Given the description of an element on the screen output the (x, y) to click on. 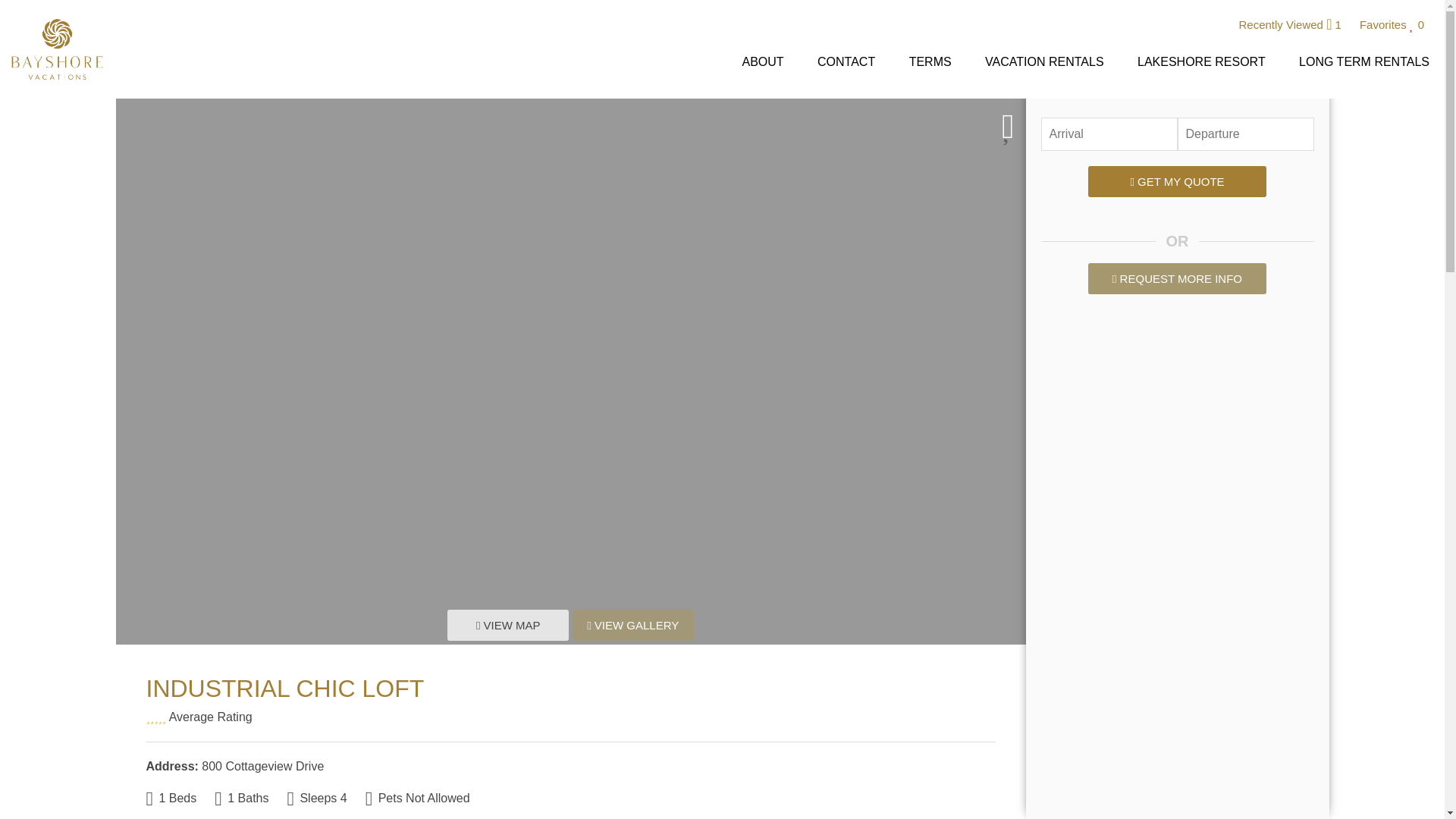
Favorites 0 (1391, 24)
CONTACT (845, 65)
VACATION RENTALS (1043, 65)
TERMS (929, 65)
ABOUT (761, 65)
Recently Viewed 1 (1290, 24)
Your Favorited Properties (1391, 23)
Properties you have Recently Viewed (1289, 23)
LAKESHORE RESORT (1201, 65)
